Given the description of an element on the screen output the (x, y) to click on. 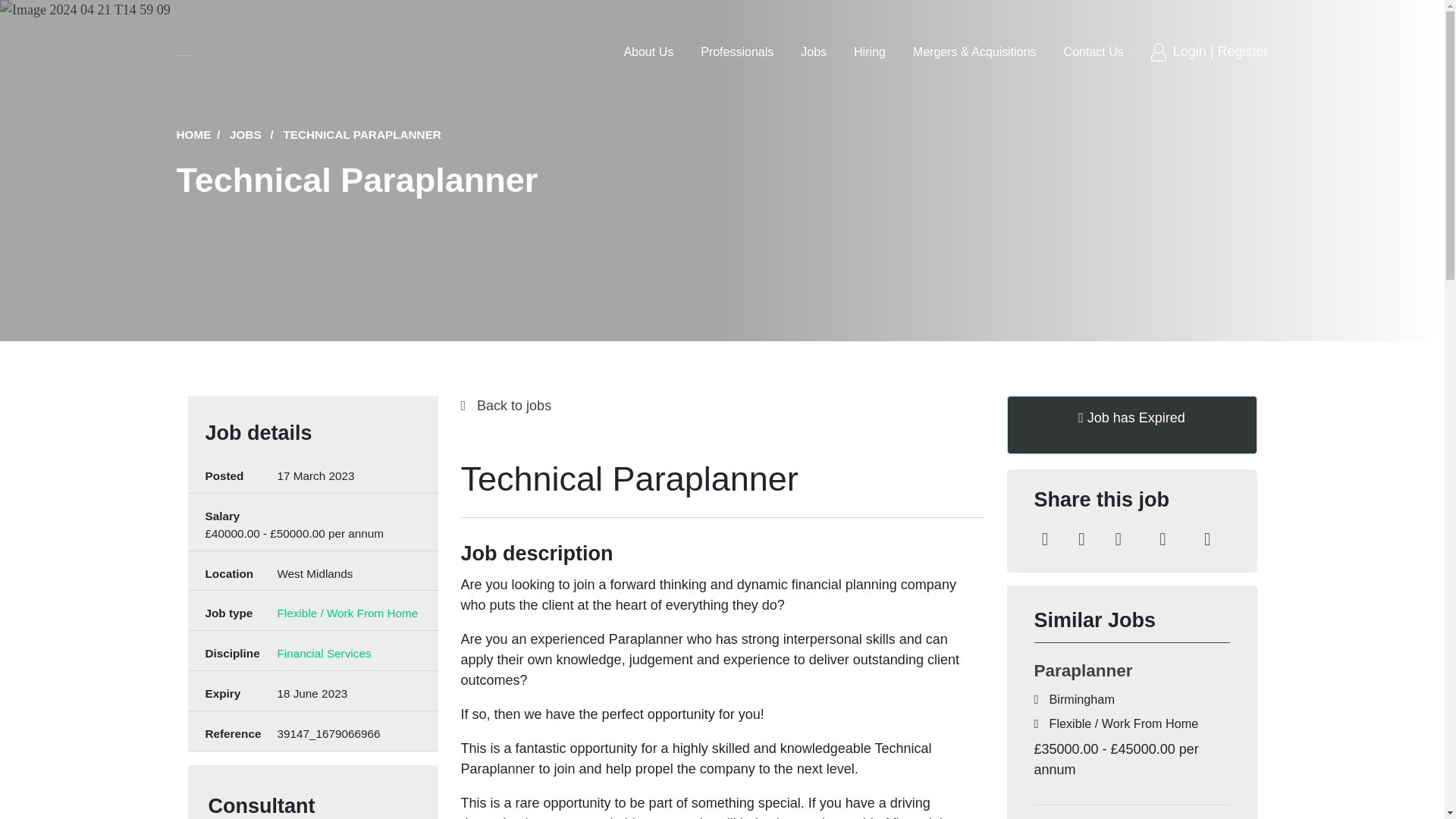
Email (1162, 540)
Professionals (736, 51)
Login (1191, 51)
Contact Us (1094, 51)
Share on Facebook (1117, 540)
Send in Whatsapp (1207, 540)
Tweet this (1081, 540)
About Us (647, 51)
Idex (183, 51)
Register (1242, 51)
Jobs (813, 51)
LinkedIn (1045, 540)
Hiring (869, 51)
